Given the description of an element on the screen output the (x, y) to click on. 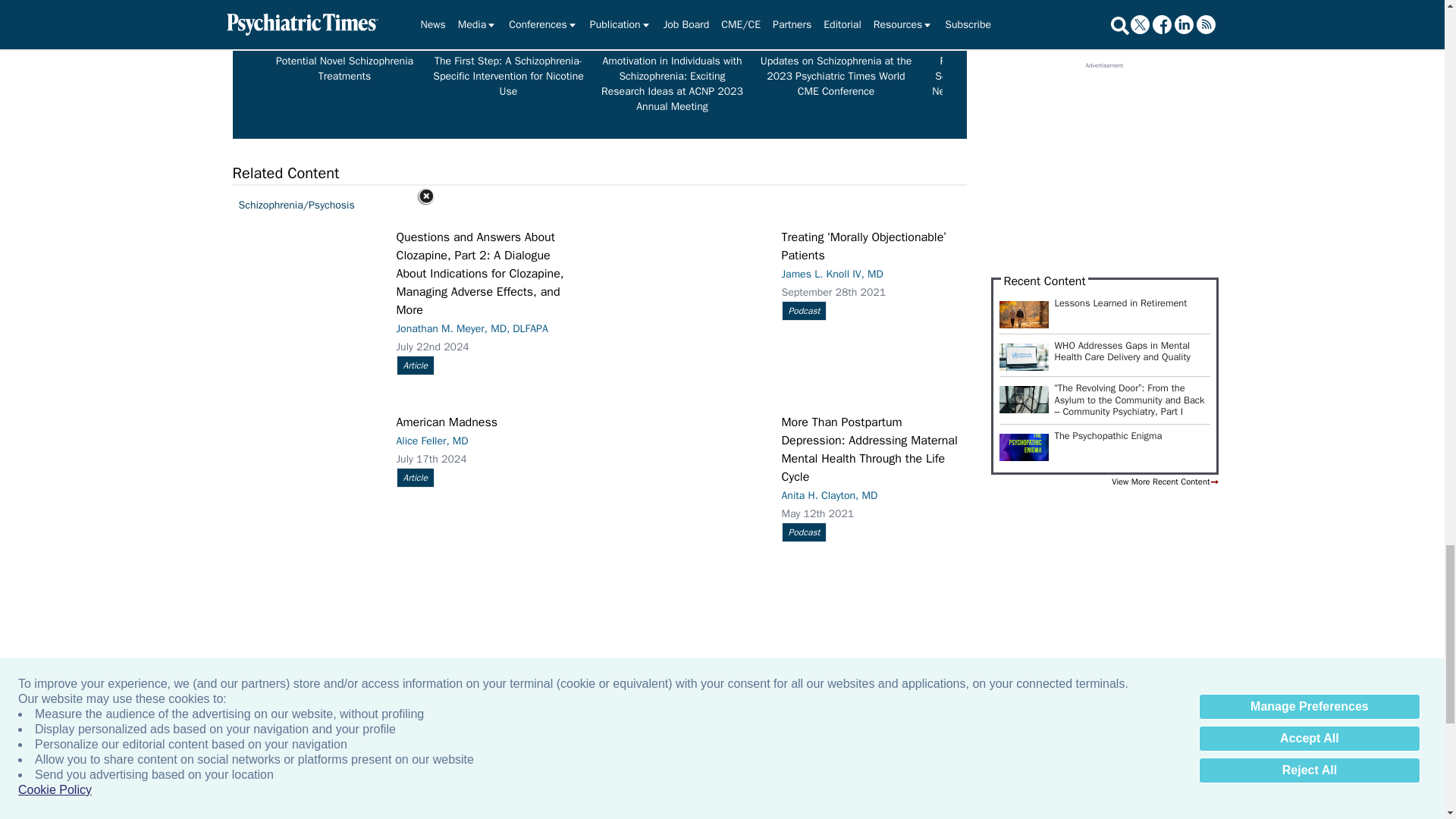
exciting, brain (1163, 22)
brain schizophrenia (671, 22)
nicotine use (507, 22)
schizophrenia (835, 22)
Treating Agitation: A New FDA Approval  (1326, 22)
schizophrenia (999, 22)
